Given the description of an element on the screen output the (x, y) to click on. 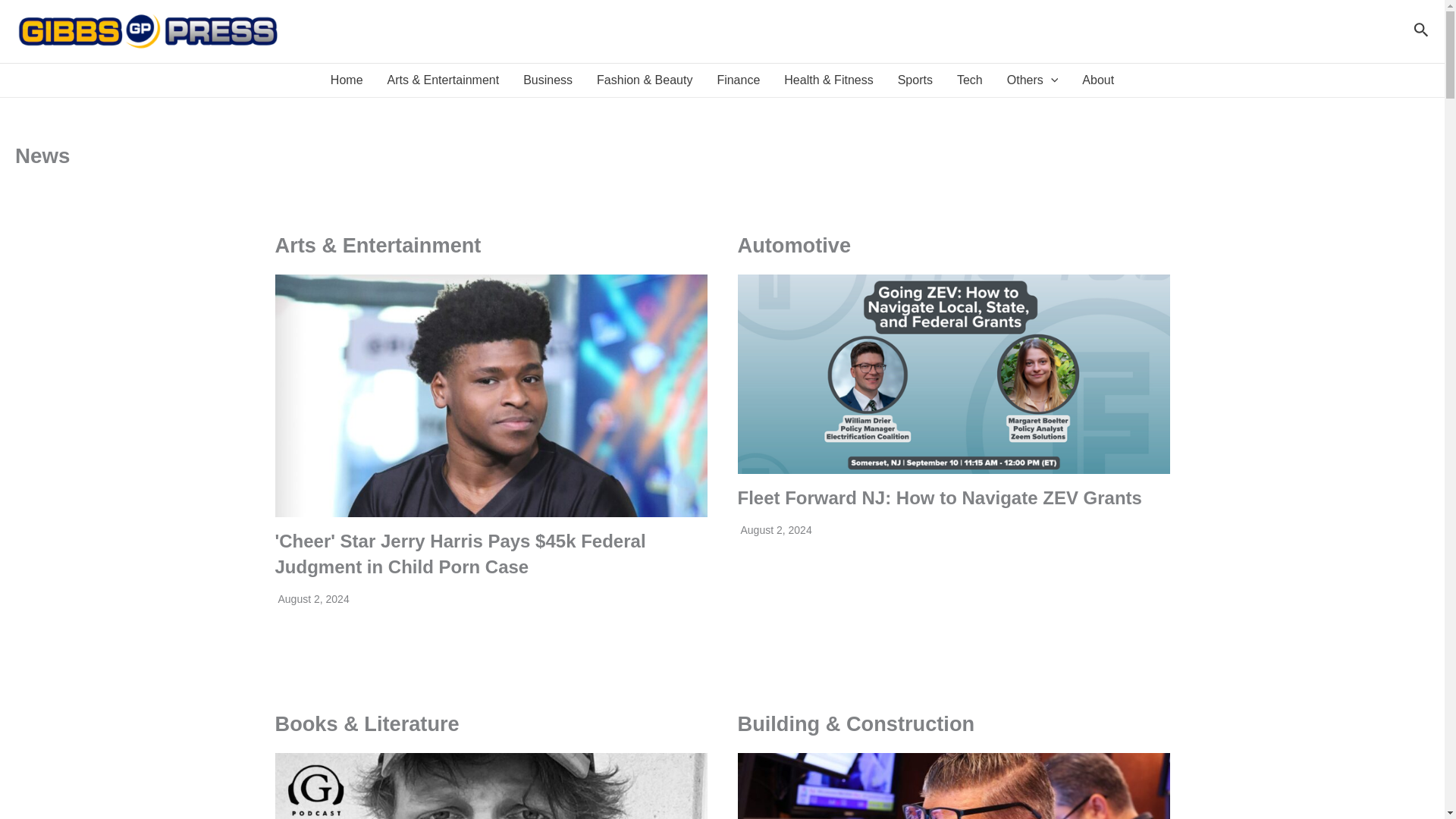
Sports (914, 80)
Home (346, 80)
Business (548, 80)
Tech (969, 80)
Finance (737, 80)
About (1097, 80)
Others (1032, 80)
